Given the description of an element on the screen output the (x, y) to click on. 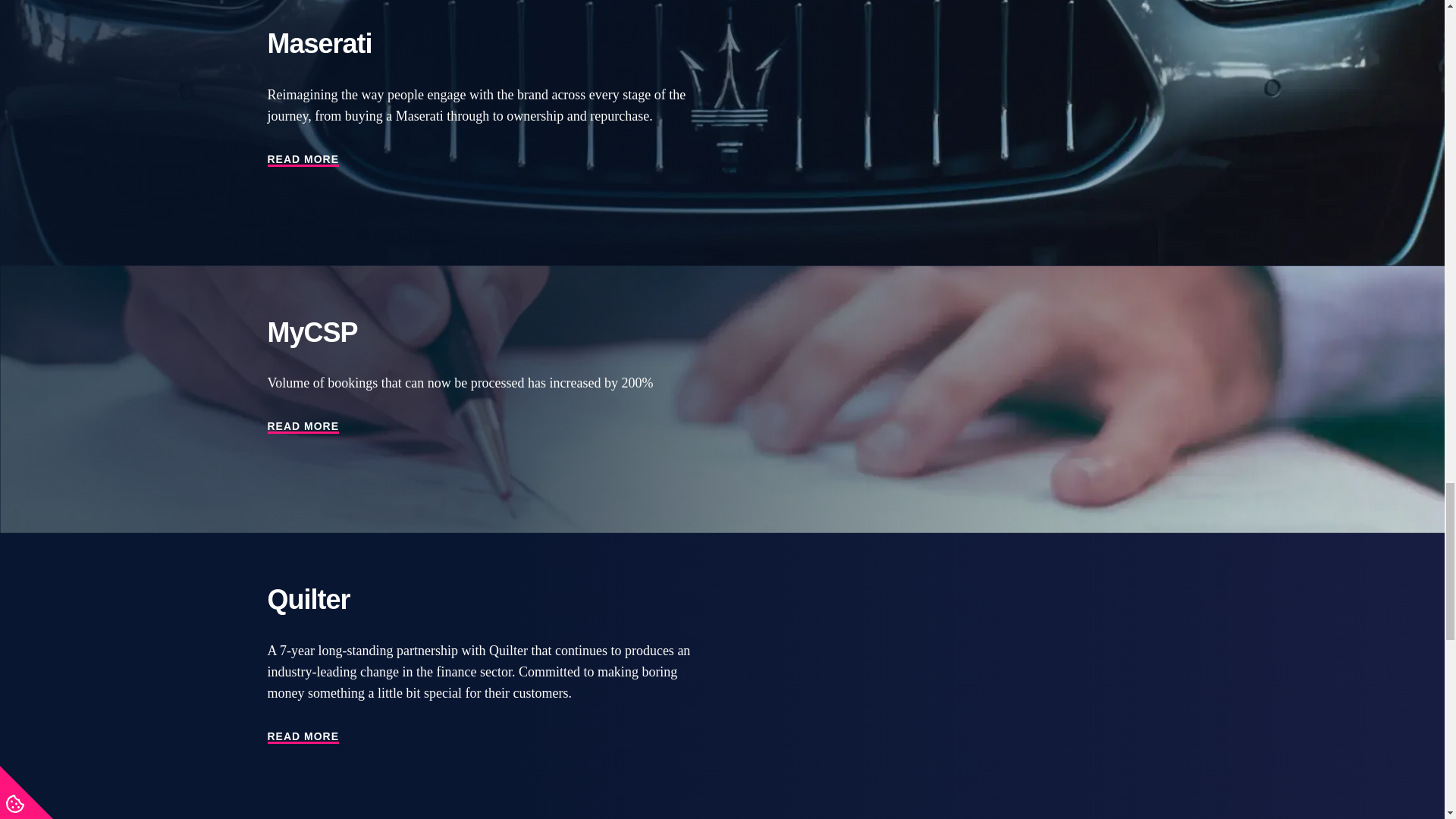
READ MORE (302, 160)
READ MORE (302, 427)
READ MORE (302, 736)
